Given the description of an element on the screen output the (x, y) to click on. 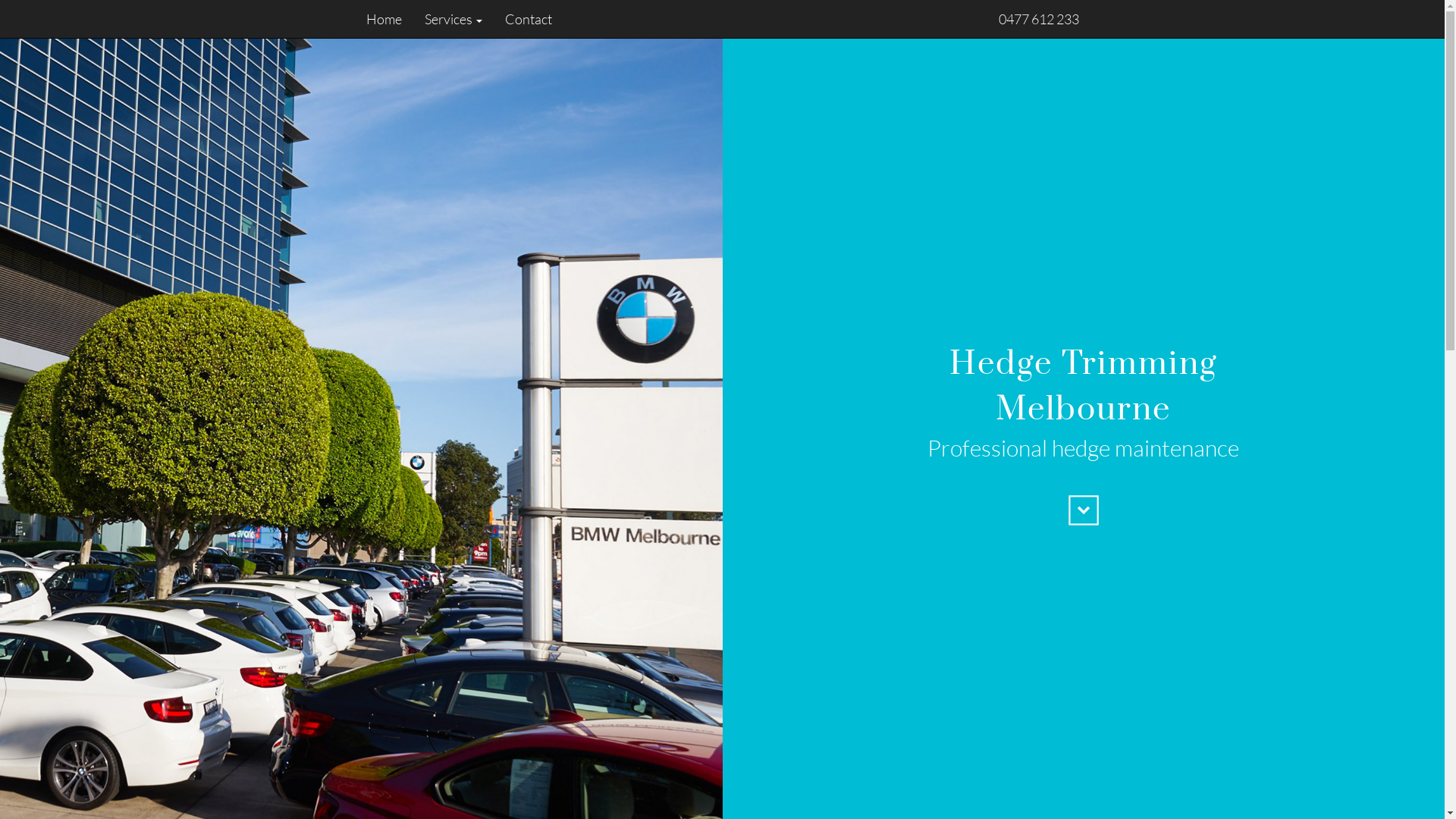
Home Element type: text (388, 18)
Services Element type: text (452, 18)
0477 612 233 Element type: text (1037, 18)
Contact Element type: text (521, 18)
